Given the description of an element on the screen output the (x, y) to click on. 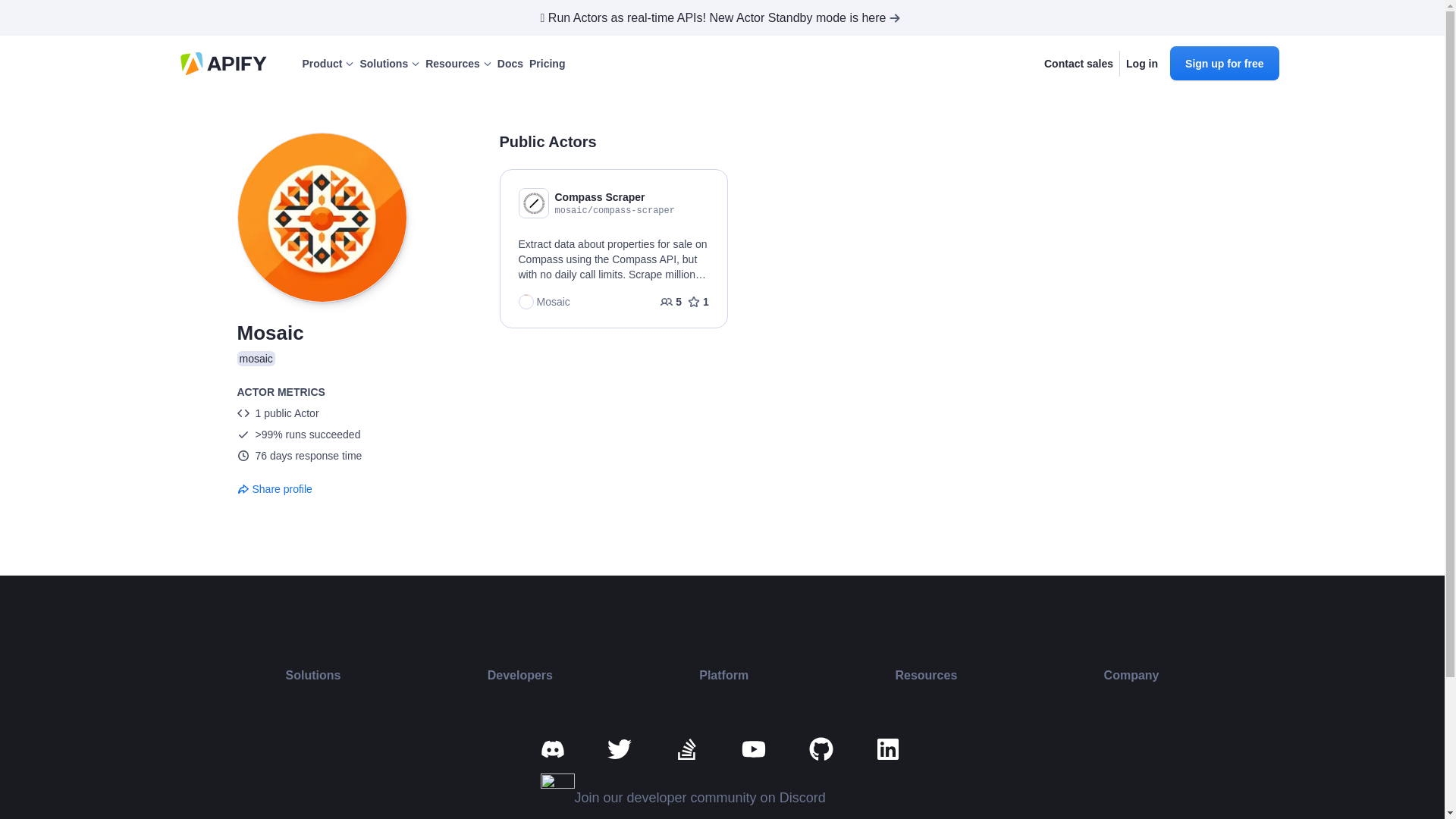
Contact sales (1078, 63)
Product (327, 63)
Docs (509, 63)
Sign up for free (1224, 62)
Log in (1141, 63)
Resources (458, 63)
Pricing (546, 63)
Solutions (389, 63)
